Given the description of an element on the screen output the (x, y) to click on. 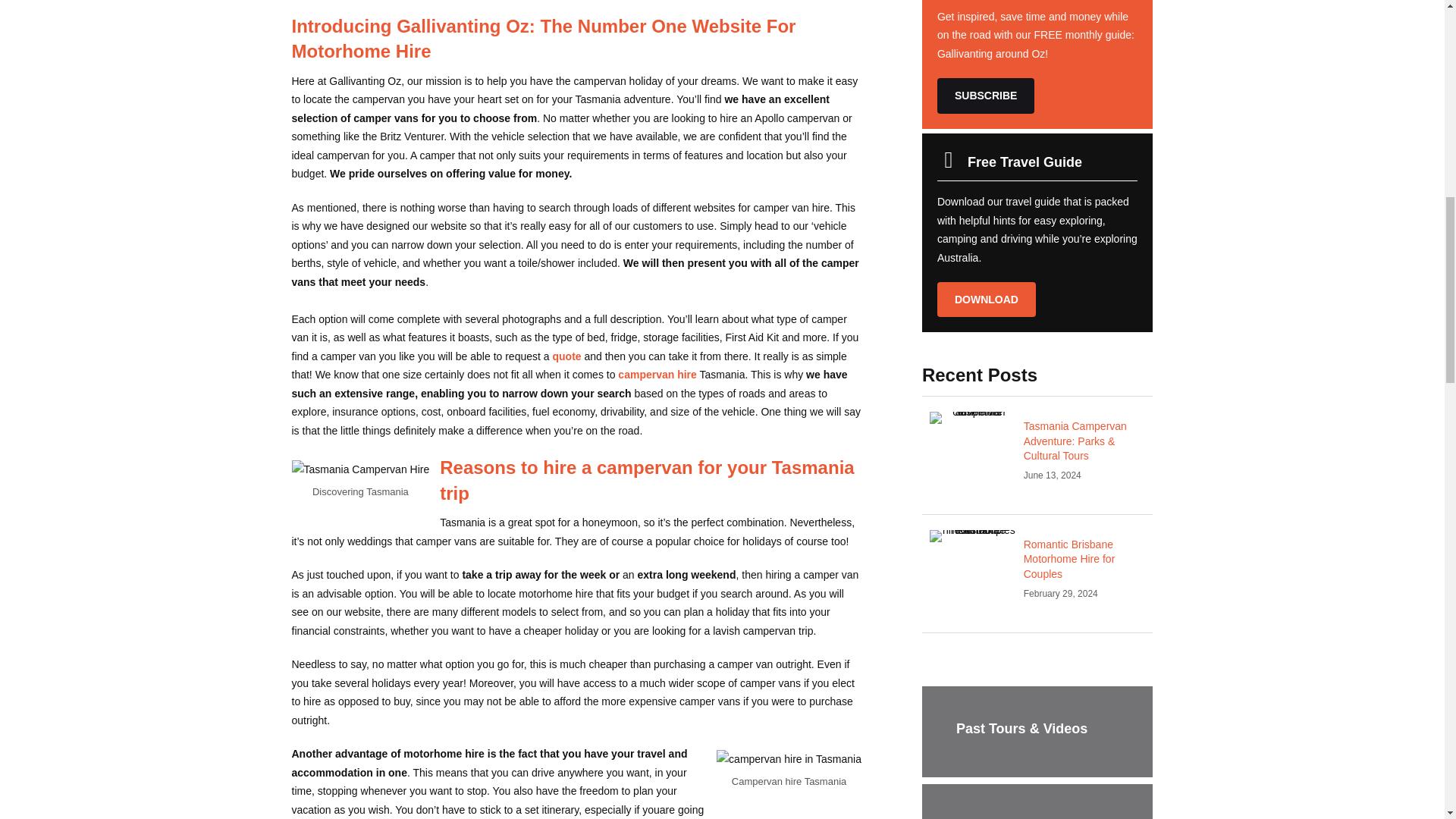
Apollo AU NT Euro Tourer 001 Min (973, 535)
IMG 2107 (973, 417)
Tasmania Campervan Hire (360, 469)
Romantic Brisbane Motorhome Hire for Couples (1037, 573)
